Given the description of an element on the screen output the (x, y) to click on. 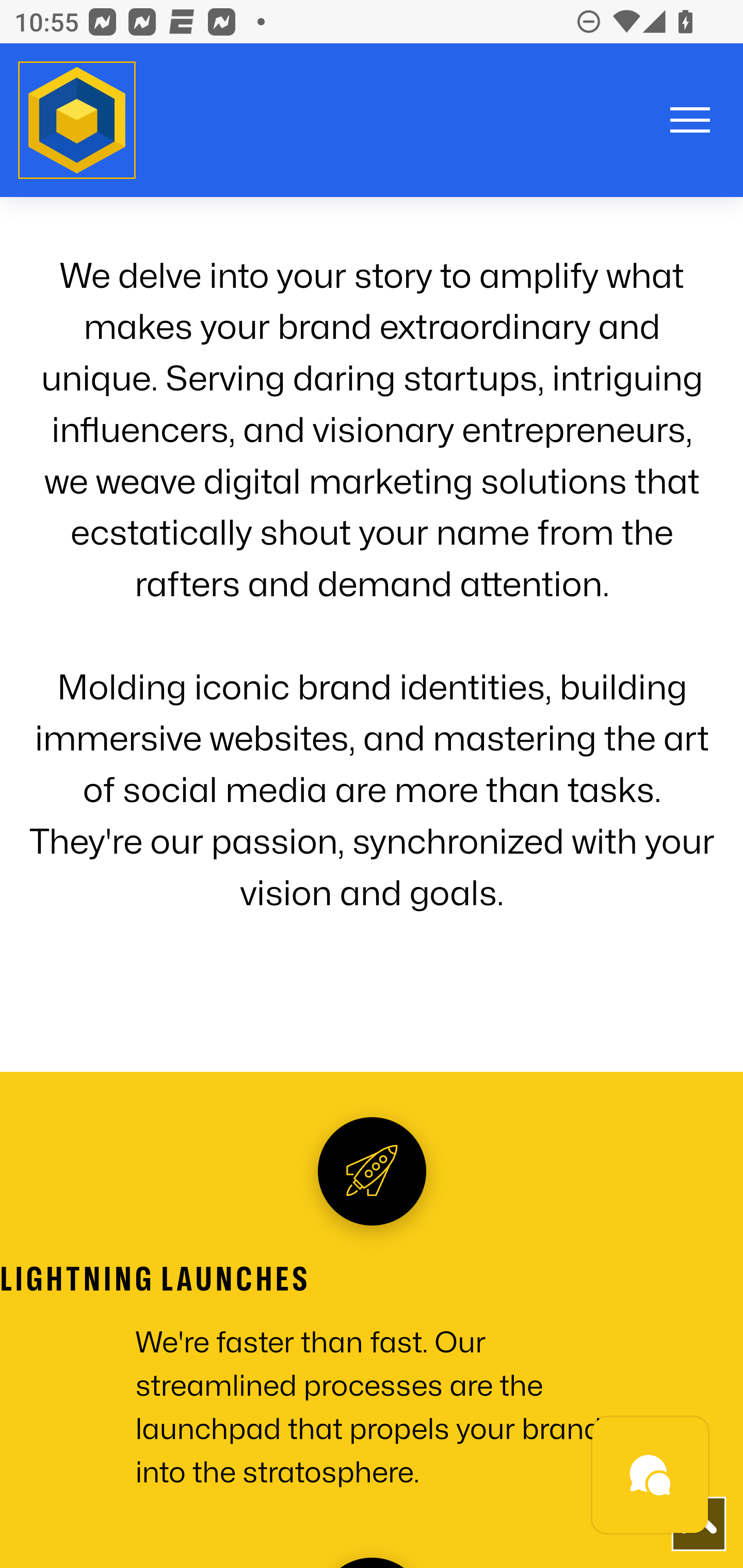
LUMI-ID-Avatar_Transparent-640w (77, 120)
menu opener (690, 119)
bubble-icon (650, 1476)
